Given the description of an element on the screen output the (x, y) to click on. 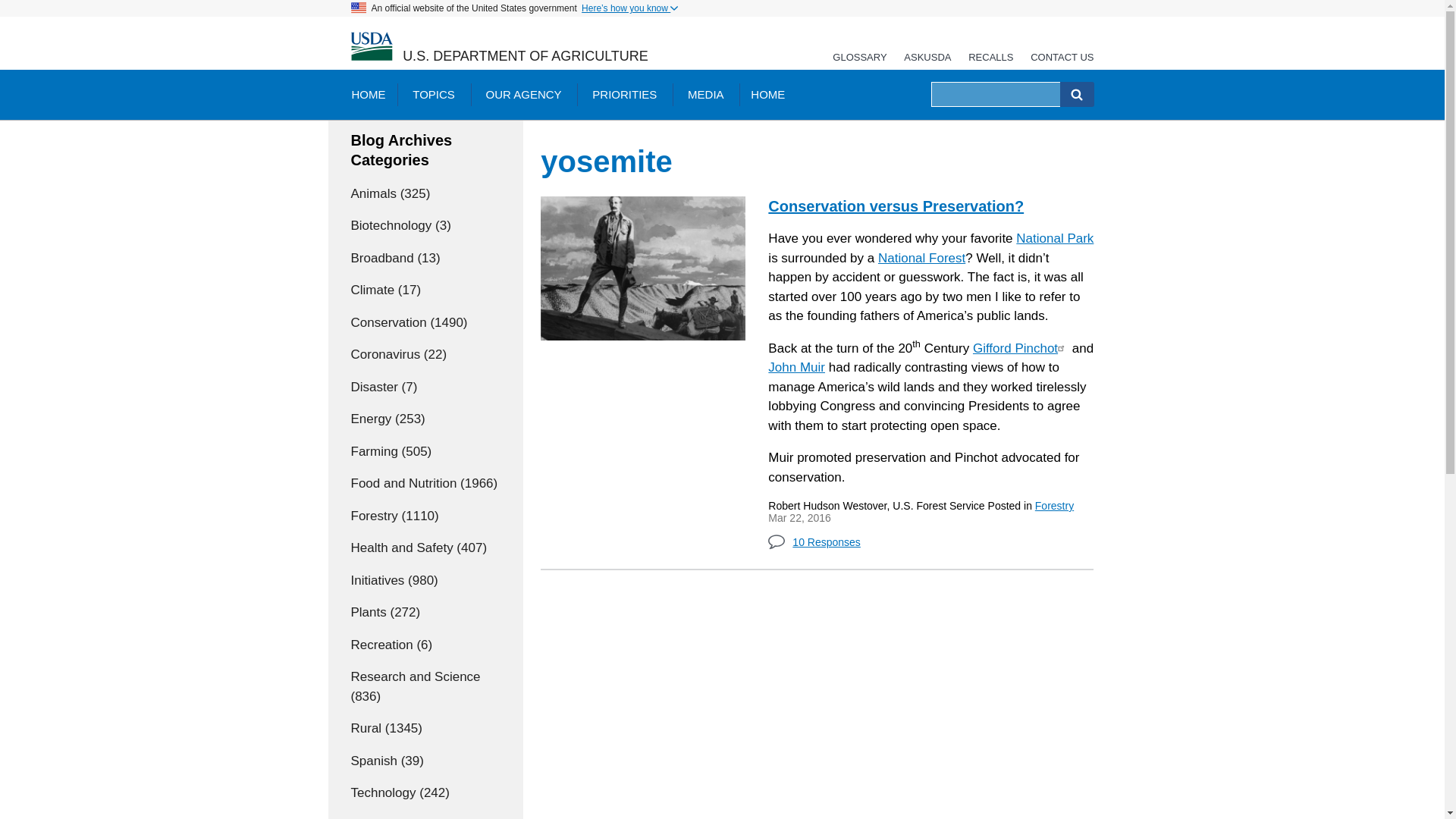
TOPICS (433, 94)
Home (525, 55)
HOME (367, 94)
U.S. DEPARTMENT OF AGRICULTURE (525, 55)
OUR AGENCY (523, 94)
Home (370, 46)
PRIORITIES (623, 94)
